Given the description of an element on the screen output the (x, y) to click on. 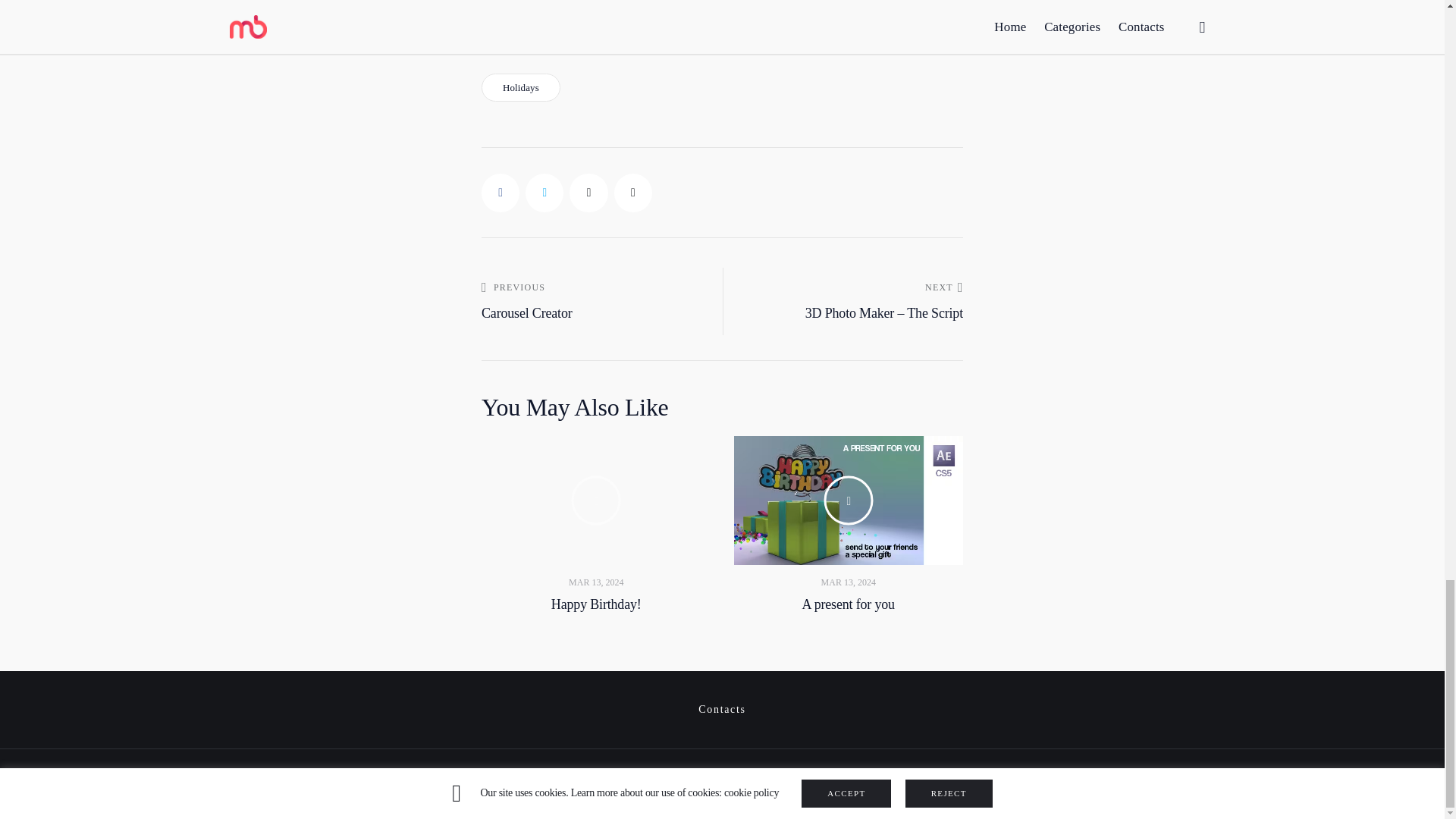
Copy URL to clipboard (633, 192)
